Given the description of an element on the screen output the (x, y) to click on. 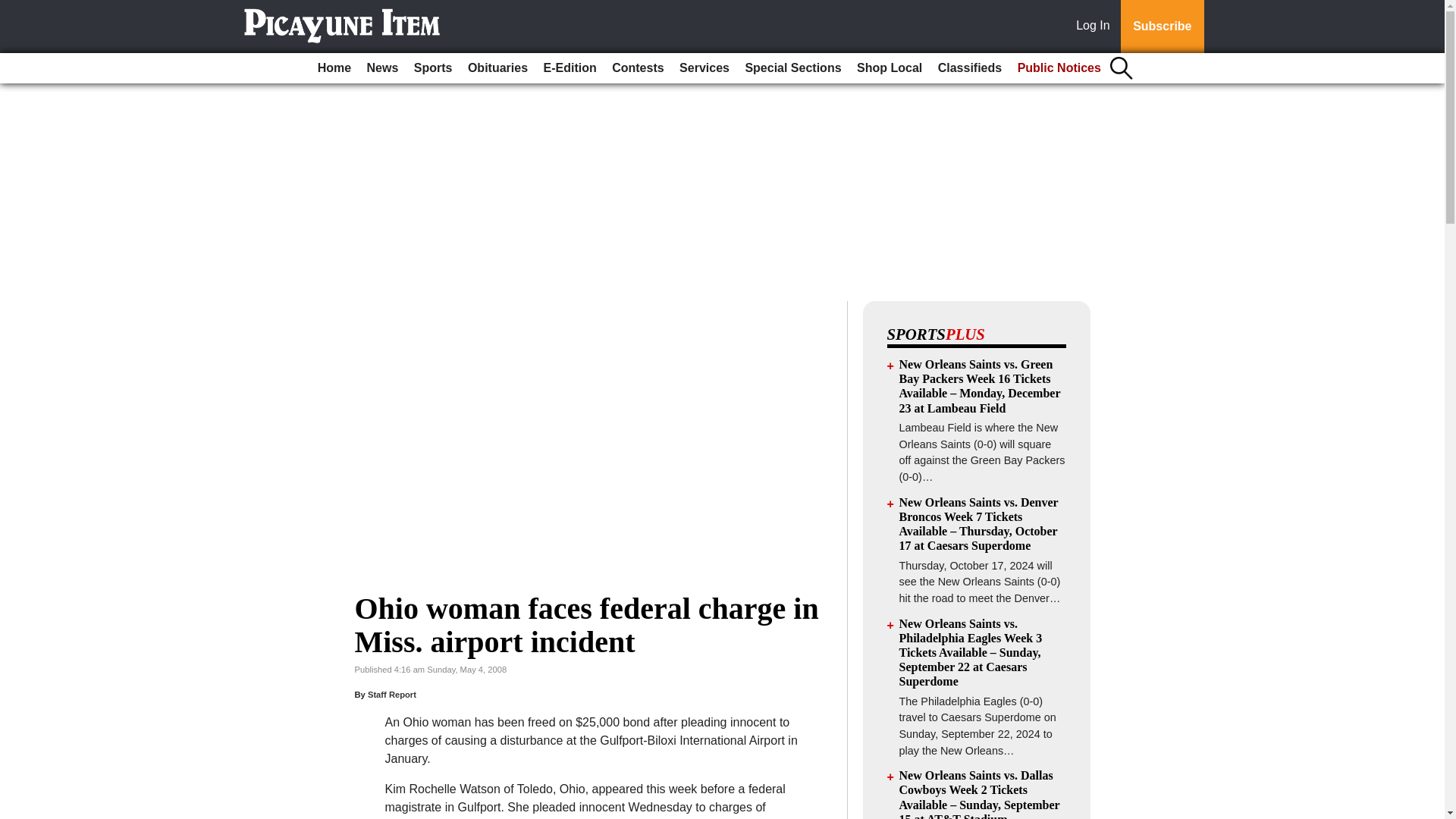
Shop Local (889, 68)
E-Edition (569, 68)
News (382, 68)
Special Sections (792, 68)
Log In (1095, 26)
Sports (432, 68)
Contests (637, 68)
Classifieds (969, 68)
Subscribe (1162, 26)
Home (333, 68)
Go (13, 9)
Public Notices (1058, 68)
Obituaries (497, 68)
Staff Report (392, 694)
Services (703, 68)
